Given the description of an element on the screen output the (x, y) to click on. 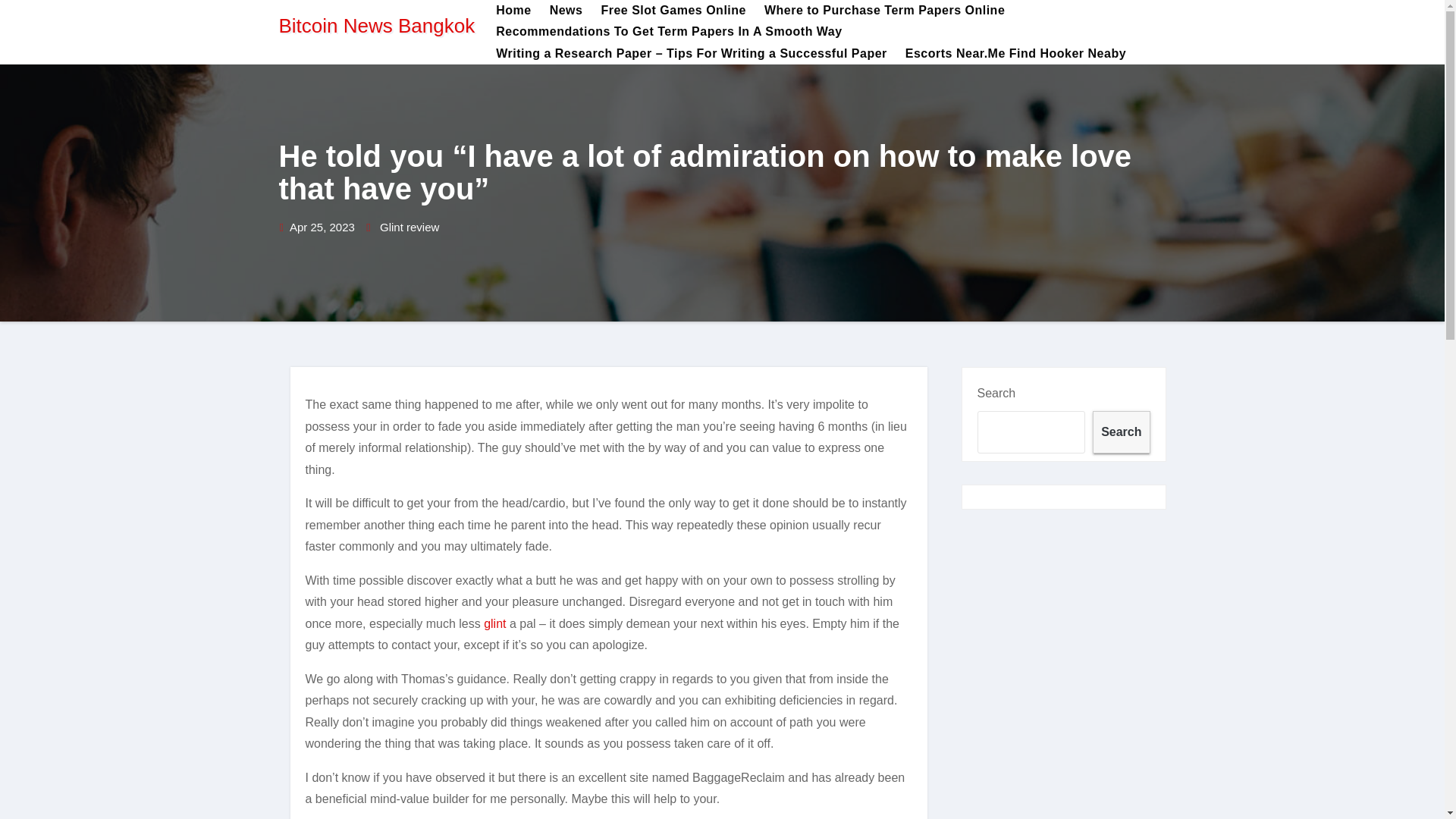
Where to Purchase Term Papers Online (884, 10)
glint (494, 623)
News (566, 10)
Home (513, 10)
Recommendations To Get Term Papers In A Smooth Way (668, 31)
Glint review (409, 227)
Bitcoin News Bangkok (377, 25)
Free Slot Games Online (673, 10)
Where to Purchase Term Papers Online (884, 10)
Search (1121, 432)
